Given the description of an element on the screen output the (x, y) to click on. 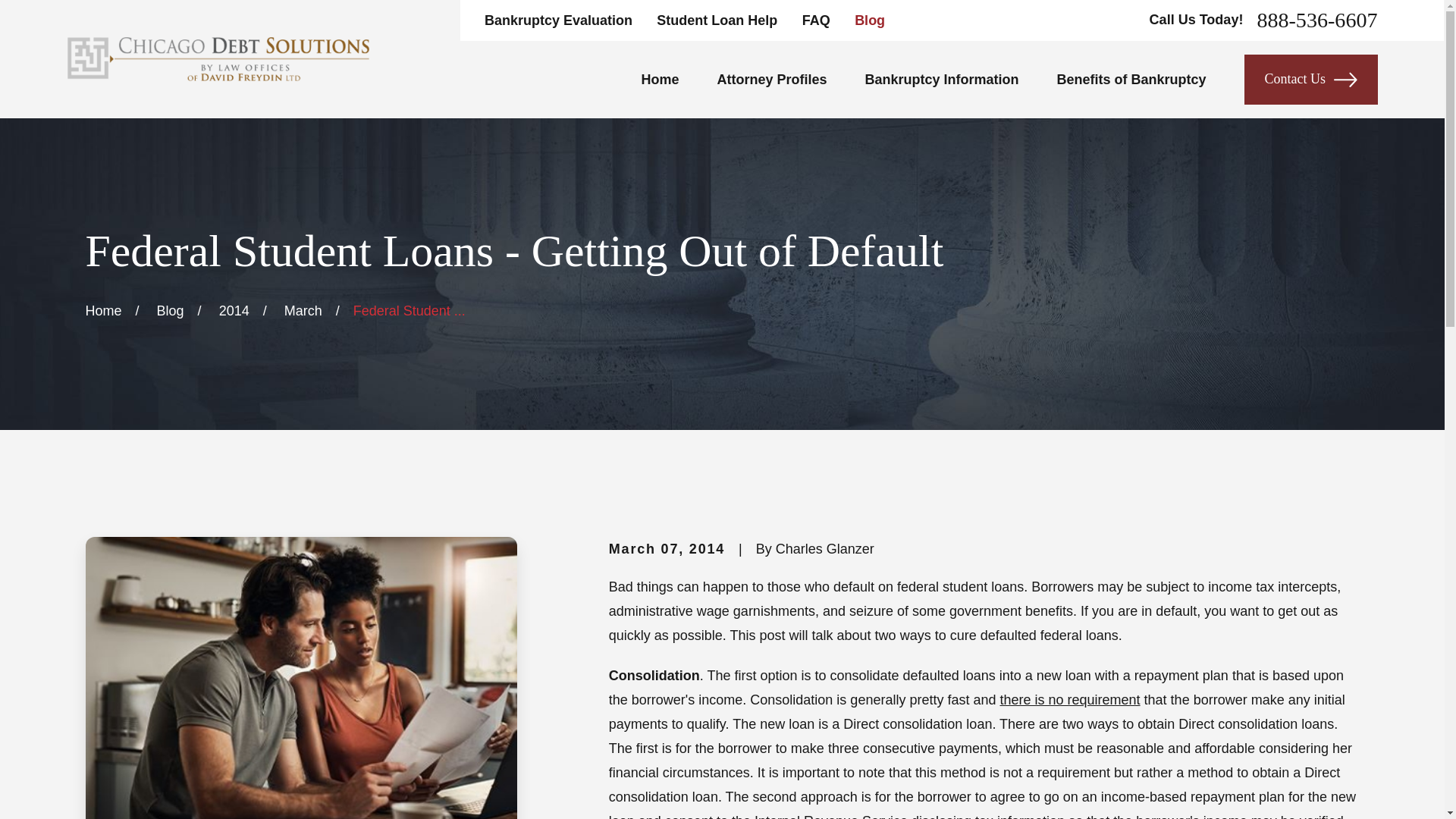
Bankruptcy Information (941, 79)
Student Loan Help (716, 20)
Go Home (103, 310)
Blog (869, 20)
Benefits of Bankruptcy (1132, 79)
Bankruptcy Evaluation (557, 20)
Home (659, 79)
FAQ (815, 20)
Home (217, 58)
888-536-6607 (1316, 20)
Attorney Profiles (772, 79)
